Given the description of an element on the screen output the (x, y) to click on. 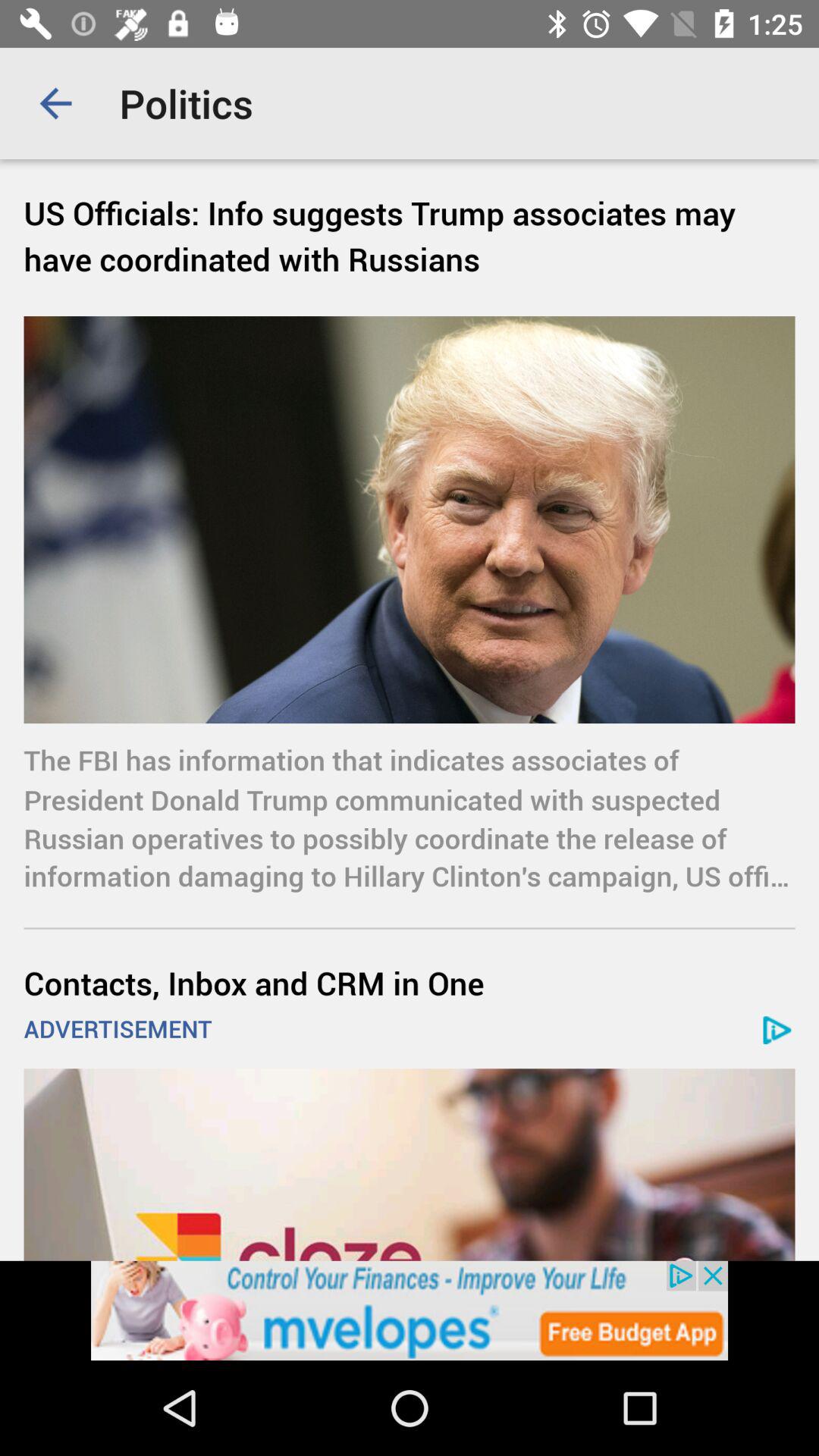
advertisement at bottom (409, 1310)
